Given the description of an element on the screen output the (x, y) to click on. 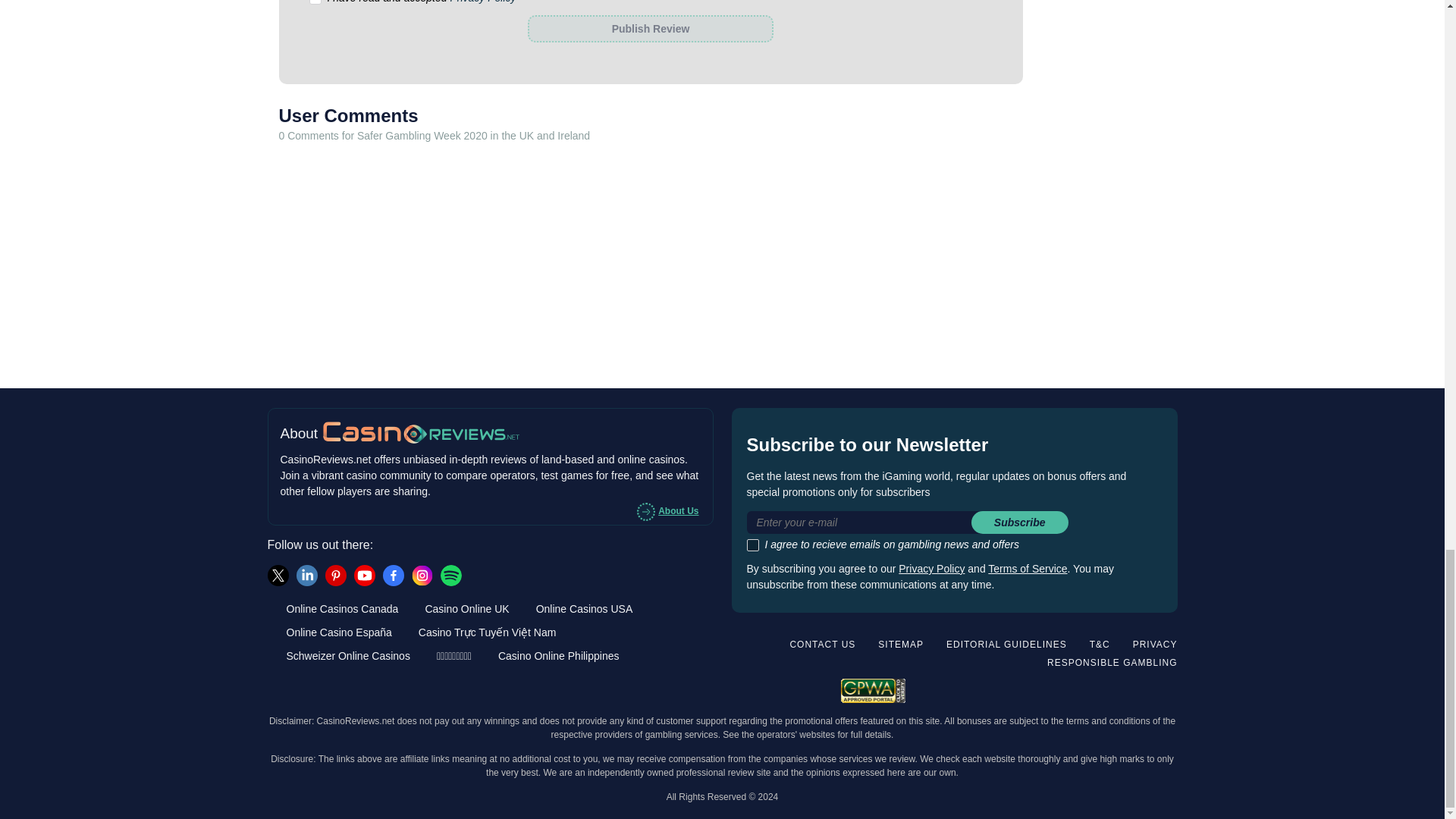
Subscribe (1019, 522)
Publish Review (650, 28)
DMCA.com Protection Status (1126, 688)
